Given the description of an element on the screen output the (x, y) to click on. 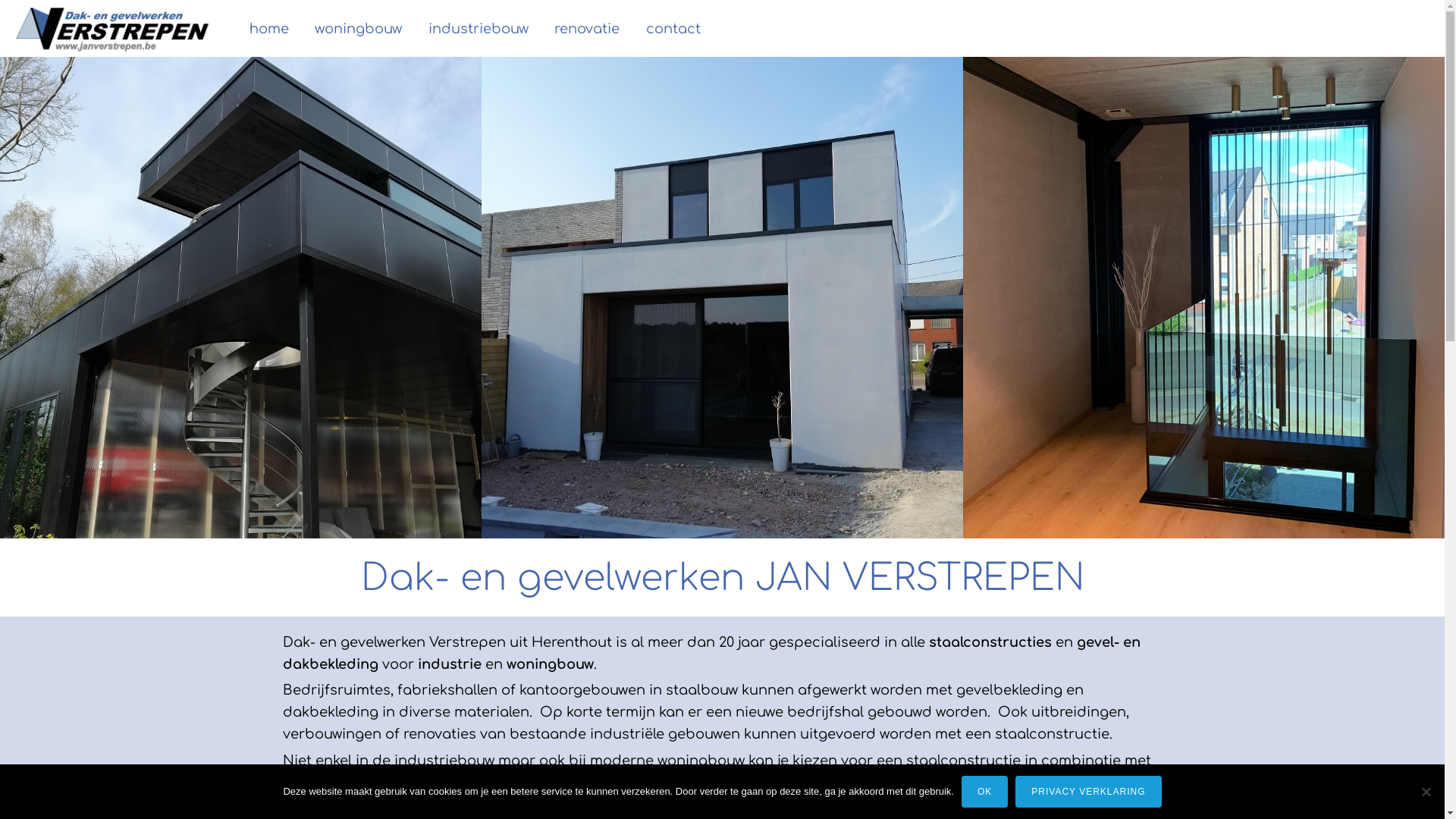
Dak- en gevelwerken Jan Verstrepen Element type: hover (240, 297)
renovatie Element type: text (586, 28)
OK Element type: text (984, 791)
PRIVACY VERKLARING Element type: text (1088, 791)
contact Element type: text (673, 28)
Nee Element type: hover (1425, 791)
Dak- en gevelwerken Jan Verstrepen Element type: hover (722, 297)
industriebouw Element type: text (478, 28)
woningbouw Element type: text (358, 28)
home Element type: text (268, 28)
Dak- en gevelwerken Jan Verstrepen Element type: hover (1203, 297)
